Given the description of an element on the screen output the (x, y) to click on. 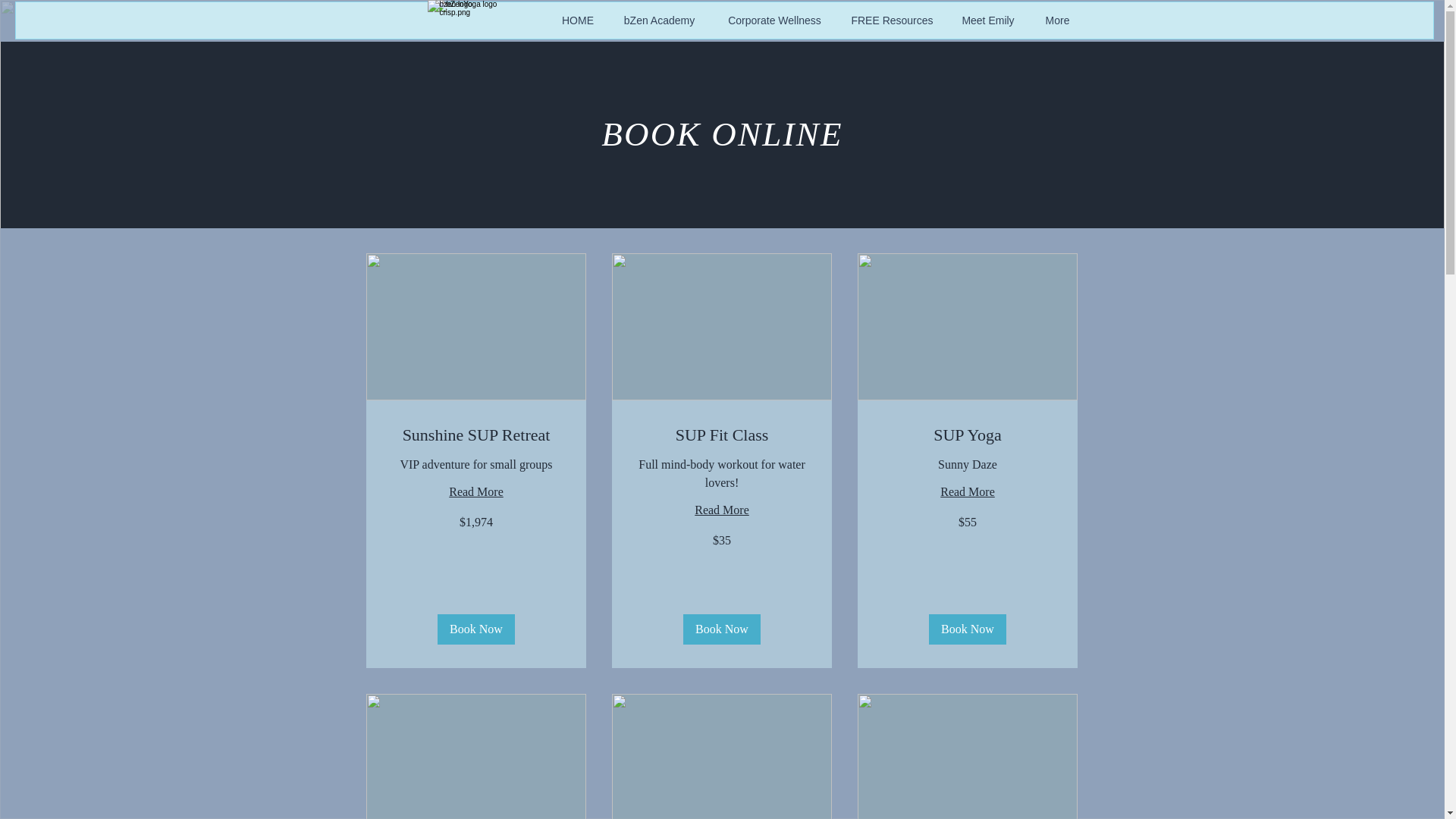
Read More (967, 492)
HOME (577, 20)
bZen Academy (659, 20)
Meet Emily (988, 20)
Read More (721, 510)
Book Now (721, 629)
Book Now (967, 629)
Book Now (476, 629)
Read More (476, 492)
Corporate Wellness (774, 20)
FREE Resources (892, 20)
SUP Fit Class (721, 434)
SUP Yoga (967, 434)
Sunshine SUP Retreat (476, 434)
